Given the description of an element on the screen output the (x, y) to click on. 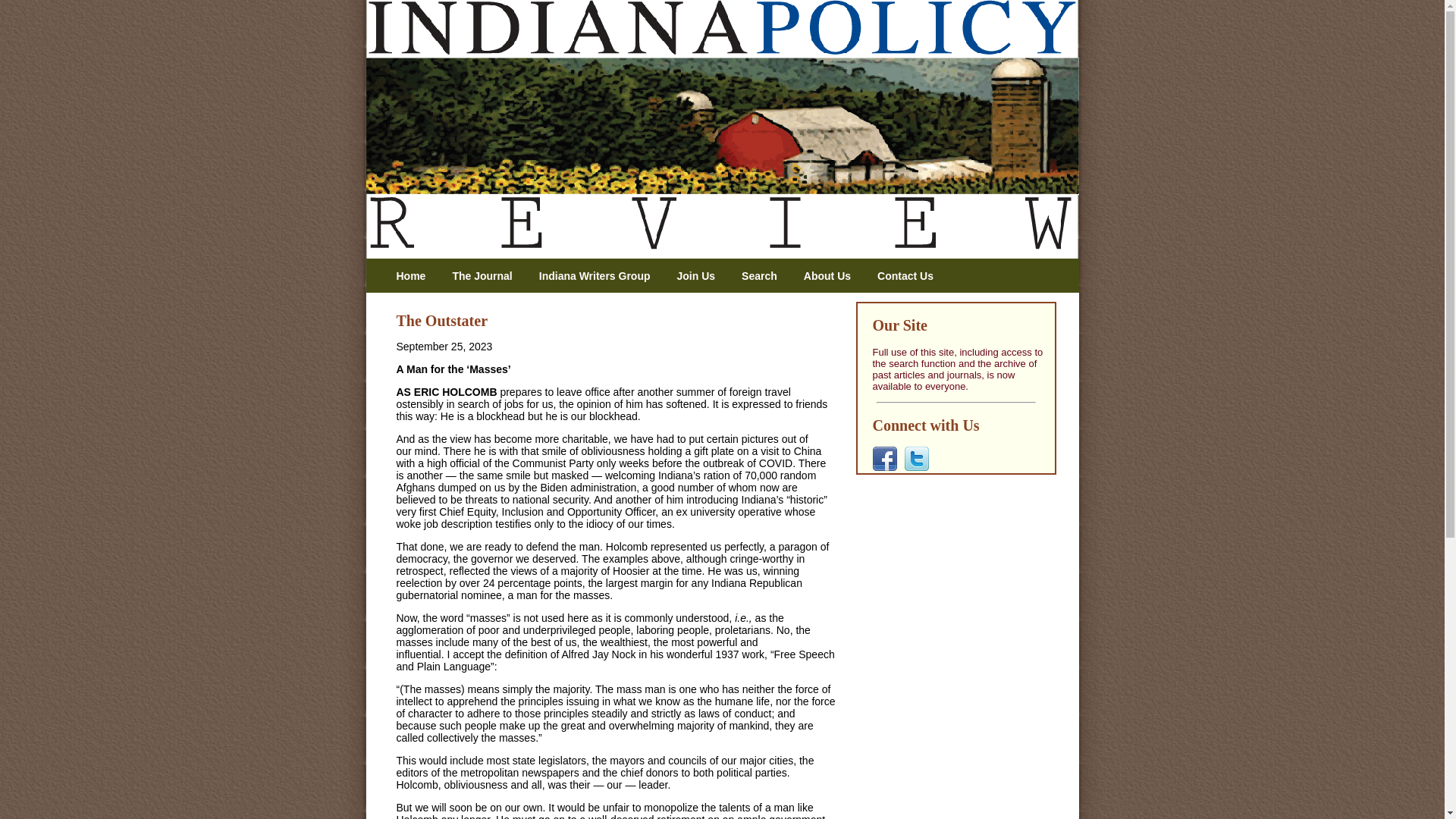
Home (416, 275)
Contact Us (910, 275)
Indiana Writers Group (600, 275)
About Us (832, 275)
Join Us (701, 275)
The Journal (486, 275)
Search (765, 275)
